Given the description of an element on the screen output the (x, y) to click on. 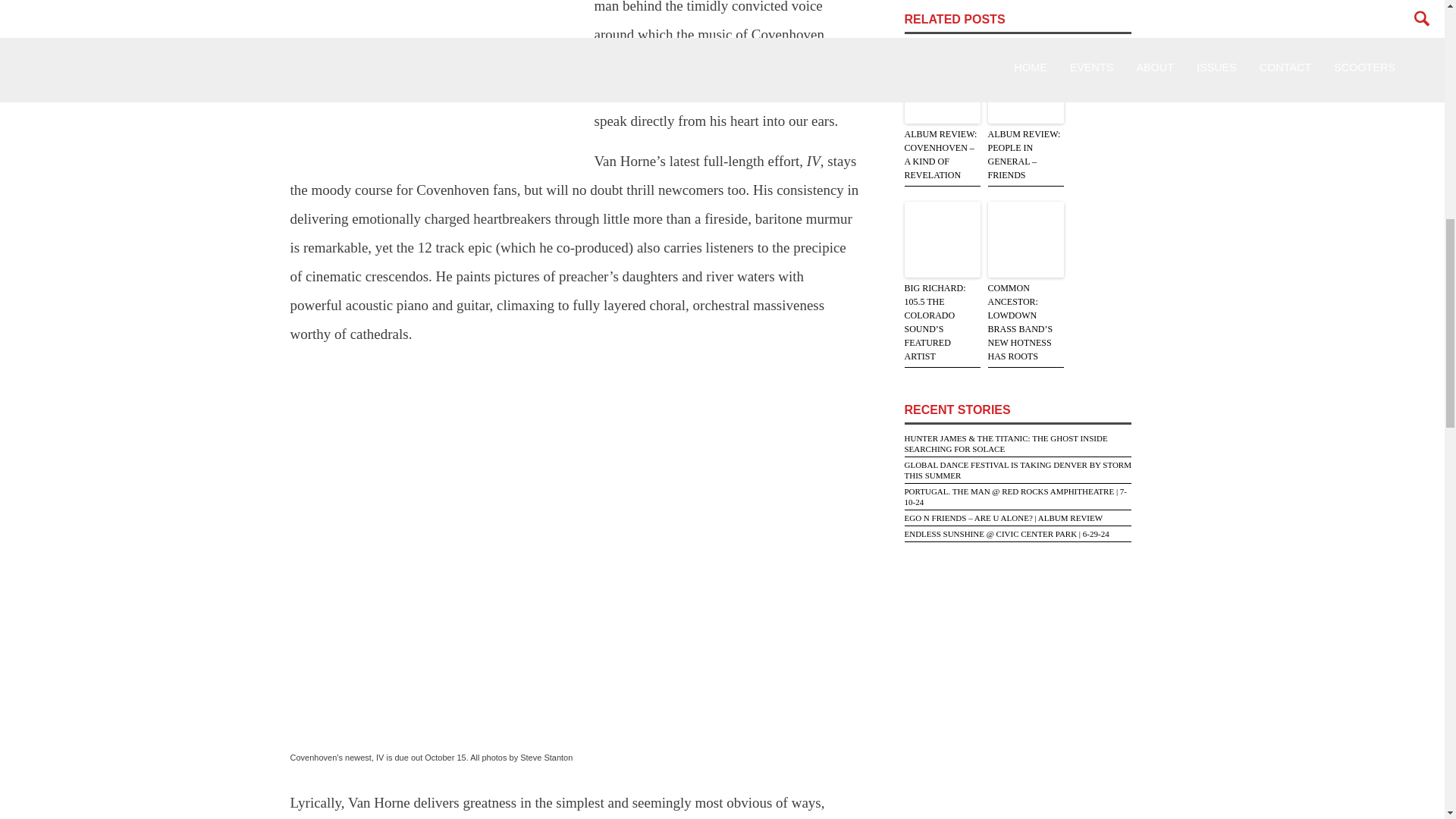
GLOBAL DANCE FESTIVAL IS TAKING DENVER BY STORM THIS SUMMER (1017, 469)
